Given the description of an element on the screen output the (x, y) to click on. 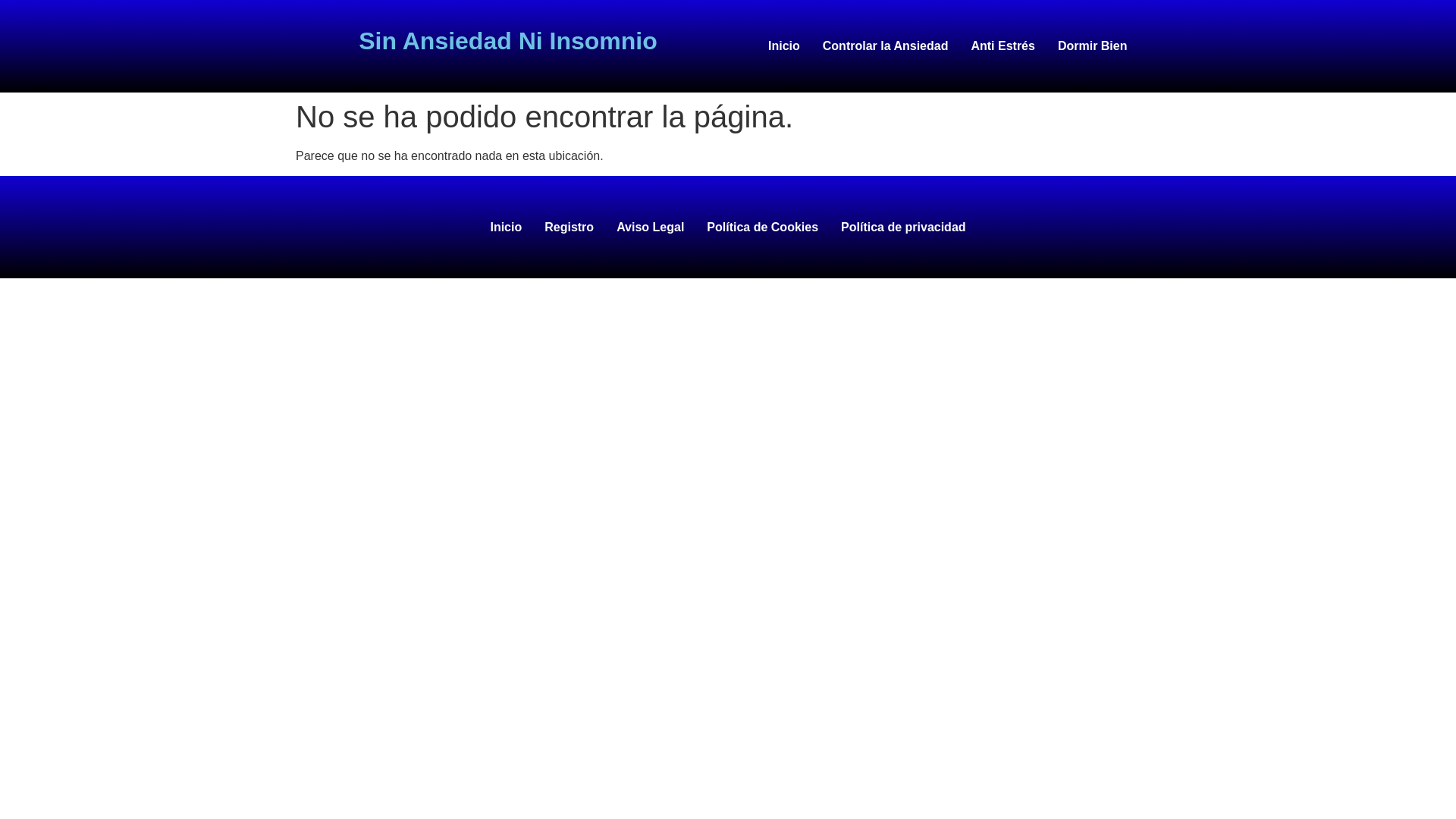
Registro (568, 226)
Controlar la Ansiedad (884, 45)
Aviso Legal (650, 226)
Inicio (783, 45)
Inicio (505, 226)
Dormir Bien (1092, 45)
